Given the description of an element on the screen output the (x, y) to click on. 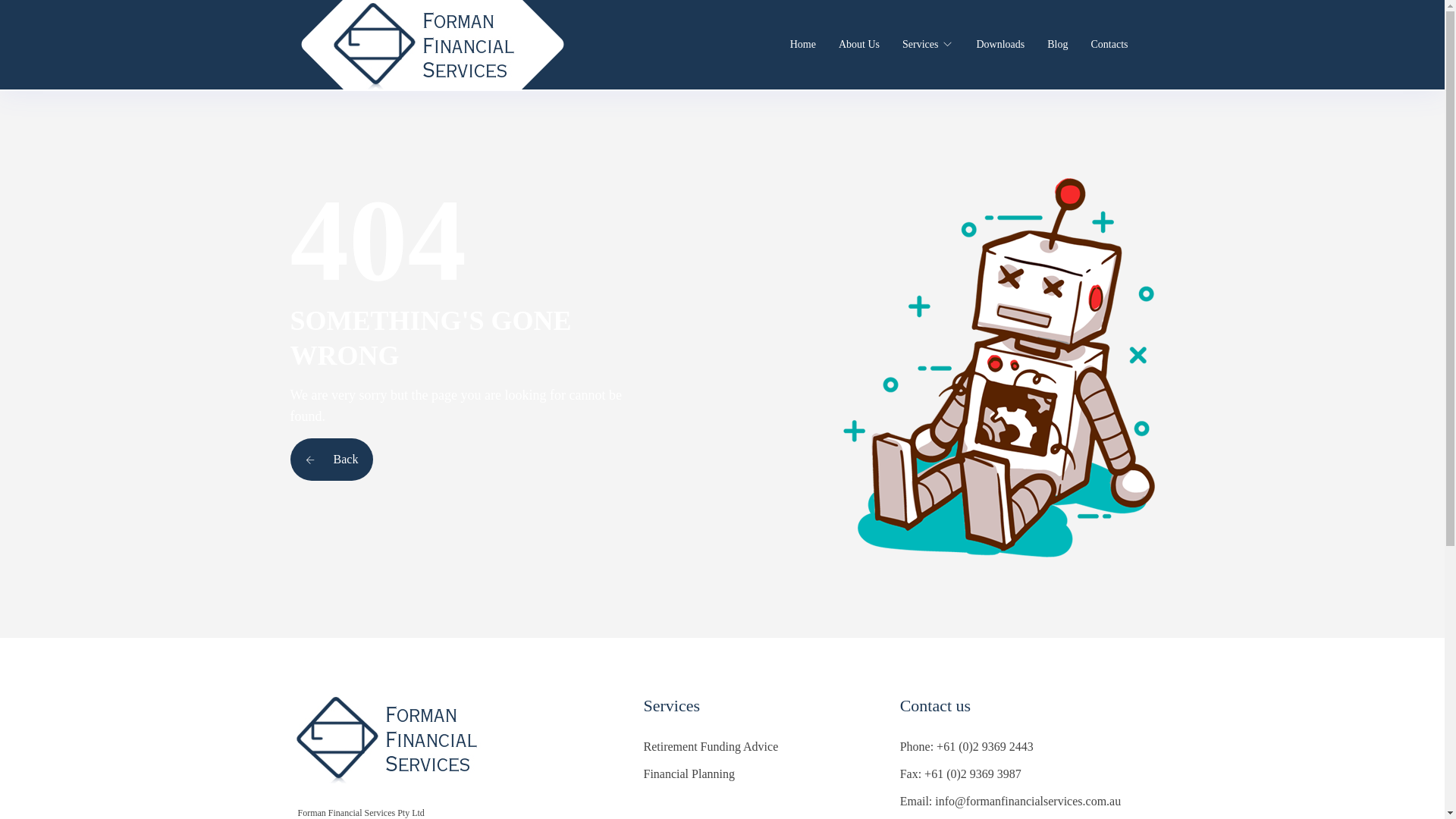
Email: info@formanfinancialservices.com.au Element type: text (1010, 800)
Back Element type: text (331, 459)
Financial Planning Element type: text (688, 773)
Home Element type: text (802, 44)
Phone: +61 (0)2 9369 2443 Element type: text (966, 746)
Blog Element type: text (1057, 44)
Services Element type: text (920, 44)
Downloads Element type: text (999, 44)
Fax: +61 (0)2 9369 3987 Element type: text (960, 773)
About Us Element type: text (858, 44)
Contacts Element type: text (1108, 44)
Retirement Funding Advice Element type: text (710, 746)
